Given the description of an element on the screen output the (x, y) to click on. 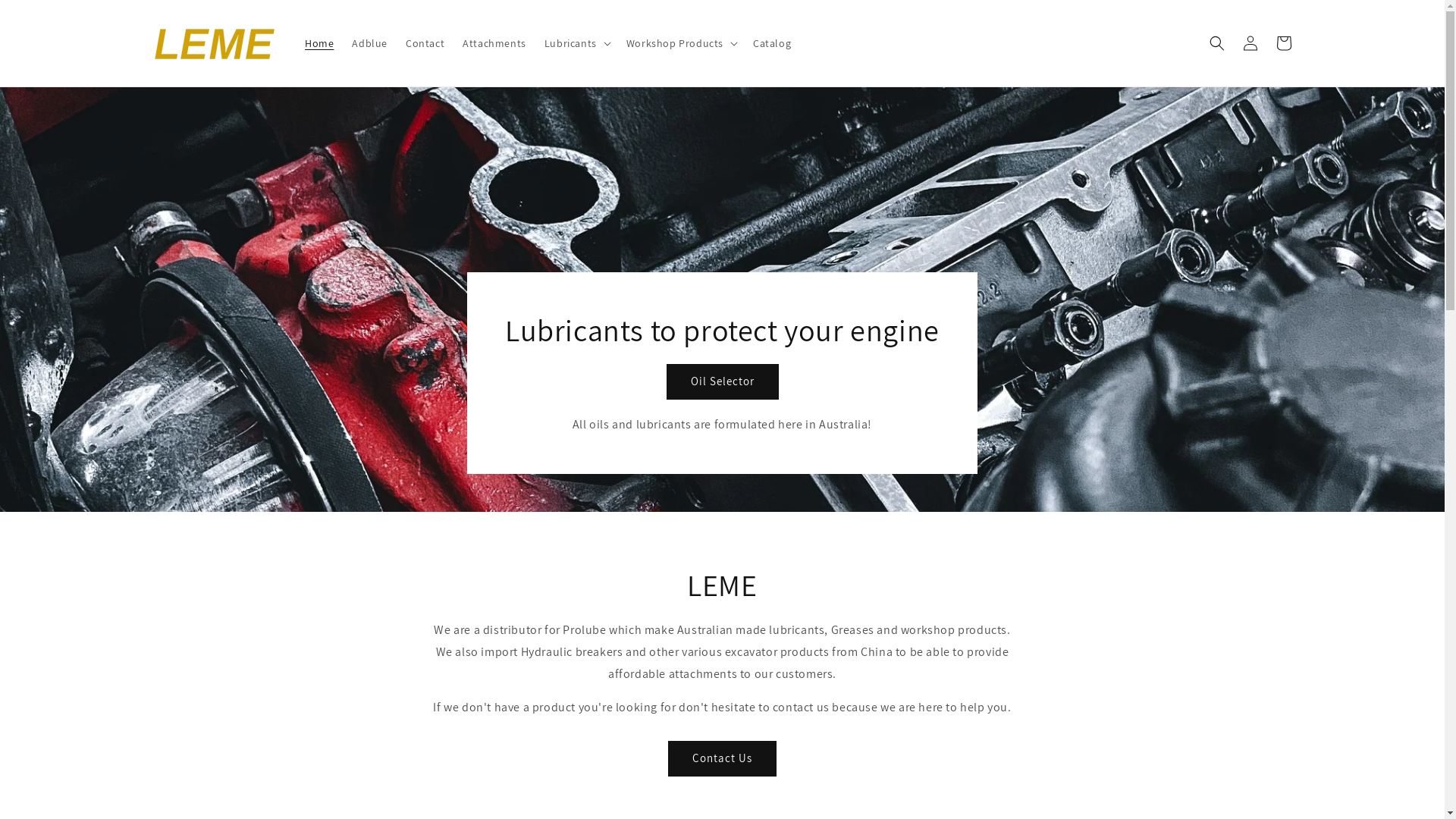
Oil Selector Element type: text (722, 381)
Adblue Element type: text (369, 43)
Contact Us Element type: text (721, 758)
Cart Element type: text (1282, 42)
Attachments Element type: text (494, 43)
Catalog Element type: text (771, 43)
Log in Element type: text (1249, 42)
Contact Element type: text (424, 43)
Home Element type: text (318, 43)
